Given the description of an element on the screen output the (x, y) to click on. 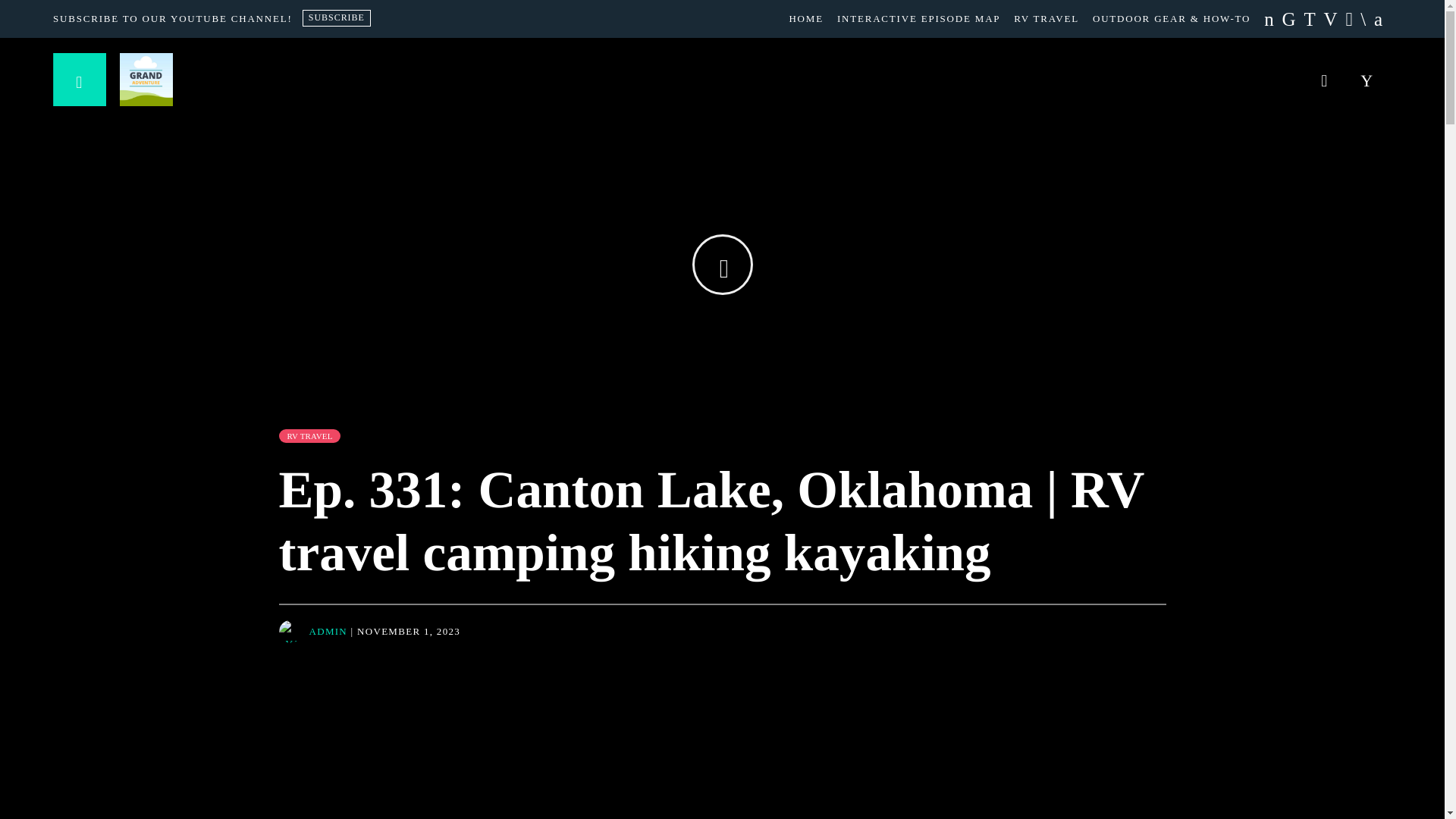
Advertisement (721, 794)
HOME (805, 18)
INTERACTIVE EPISODE MAP (918, 18)
RV TRAVEL (1046, 18)
SUBSCRIBE (336, 17)
